Given the description of an element on the screen output the (x, y) to click on. 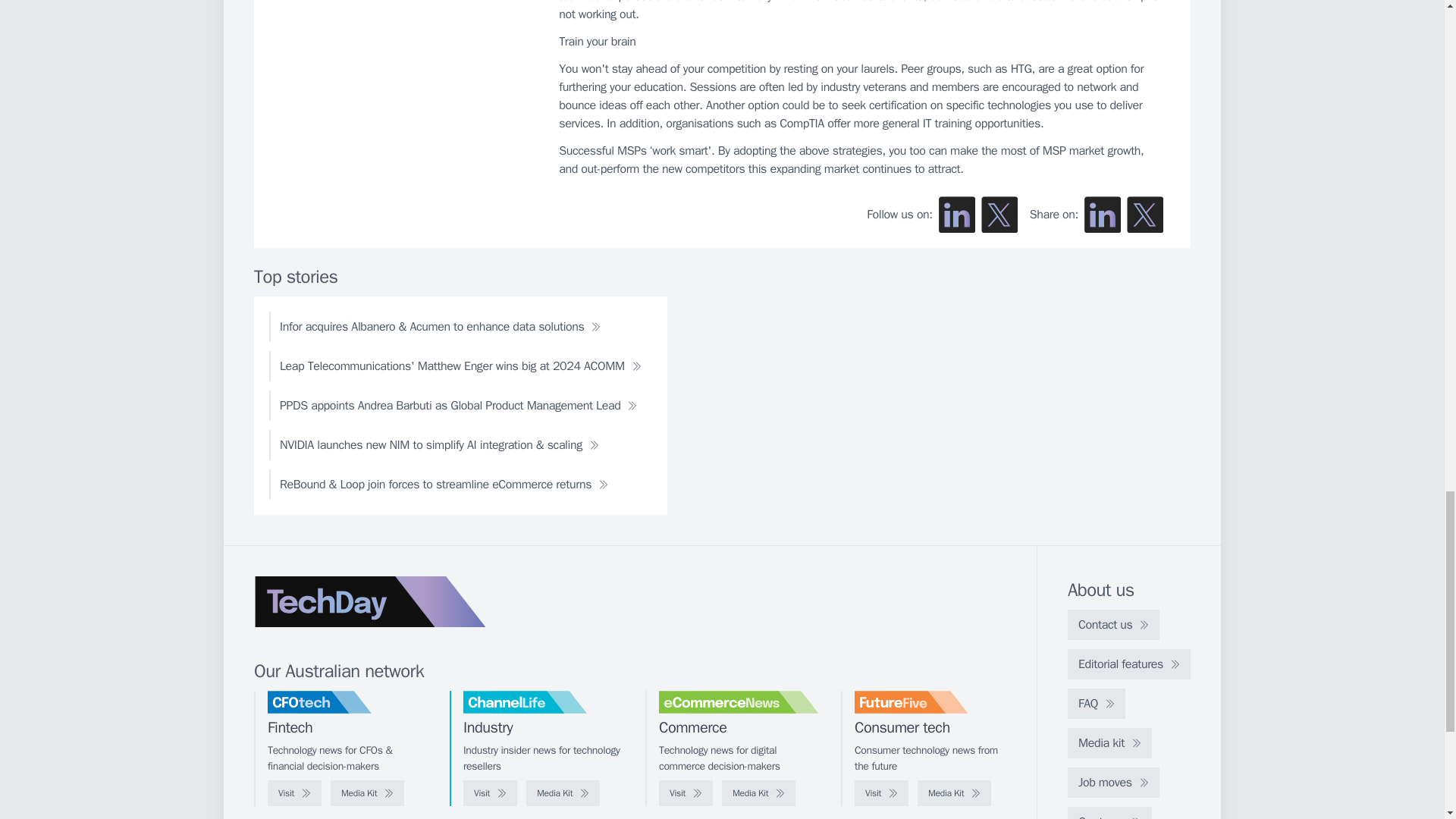
Media Kit (367, 792)
Media Kit (562, 792)
Visit (686, 792)
Media Kit (758, 792)
Visit (489, 792)
Visit (294, 792)
Visit (881, 792)
Media Kit (954, 792)
